Given the description of an element on the screen output the (x, y) to click on. 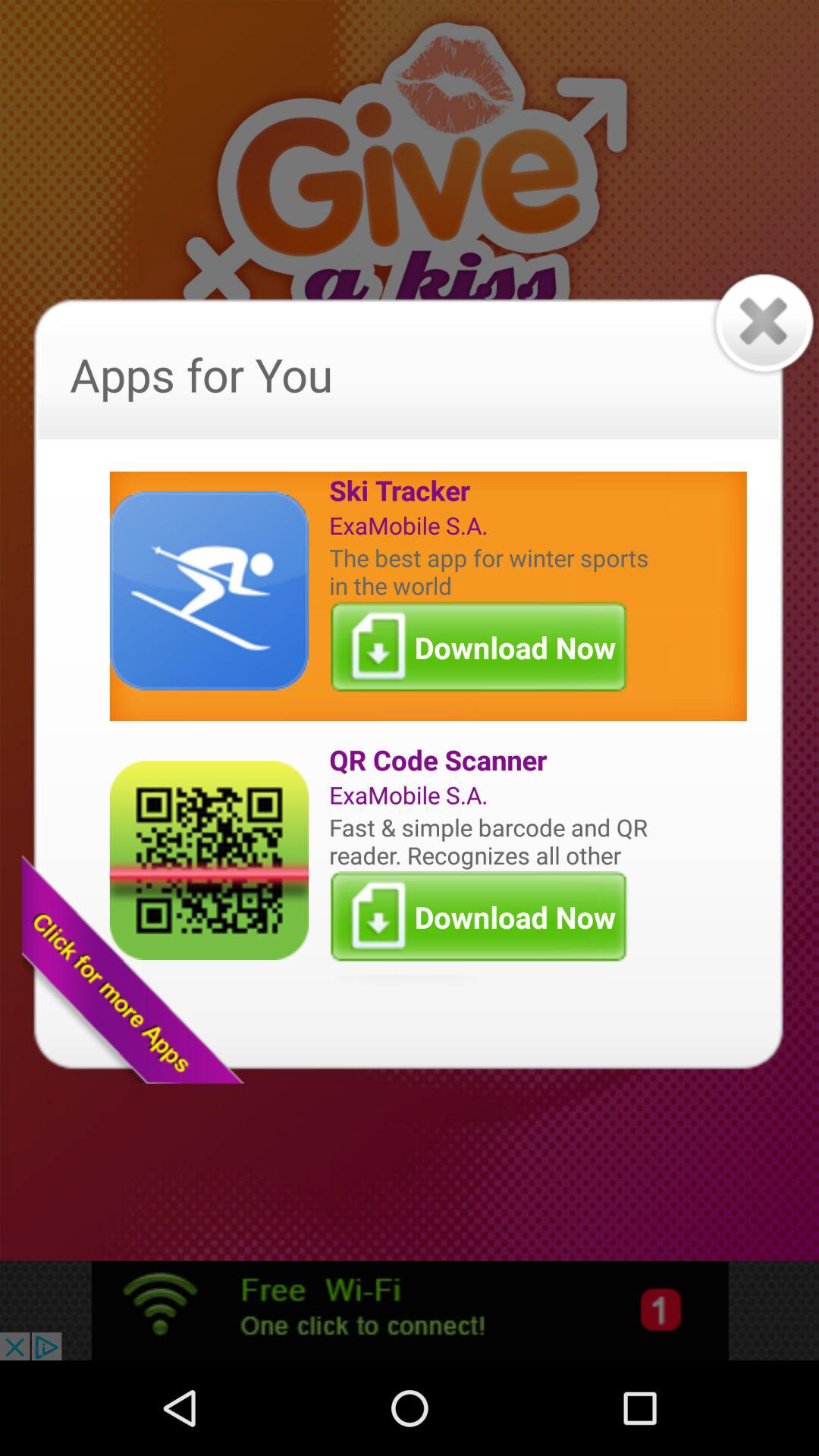
tap the icon above the examobile s.a. icon (492, 759)
